Given the description of an element on the screen output the (x, y) to click on. 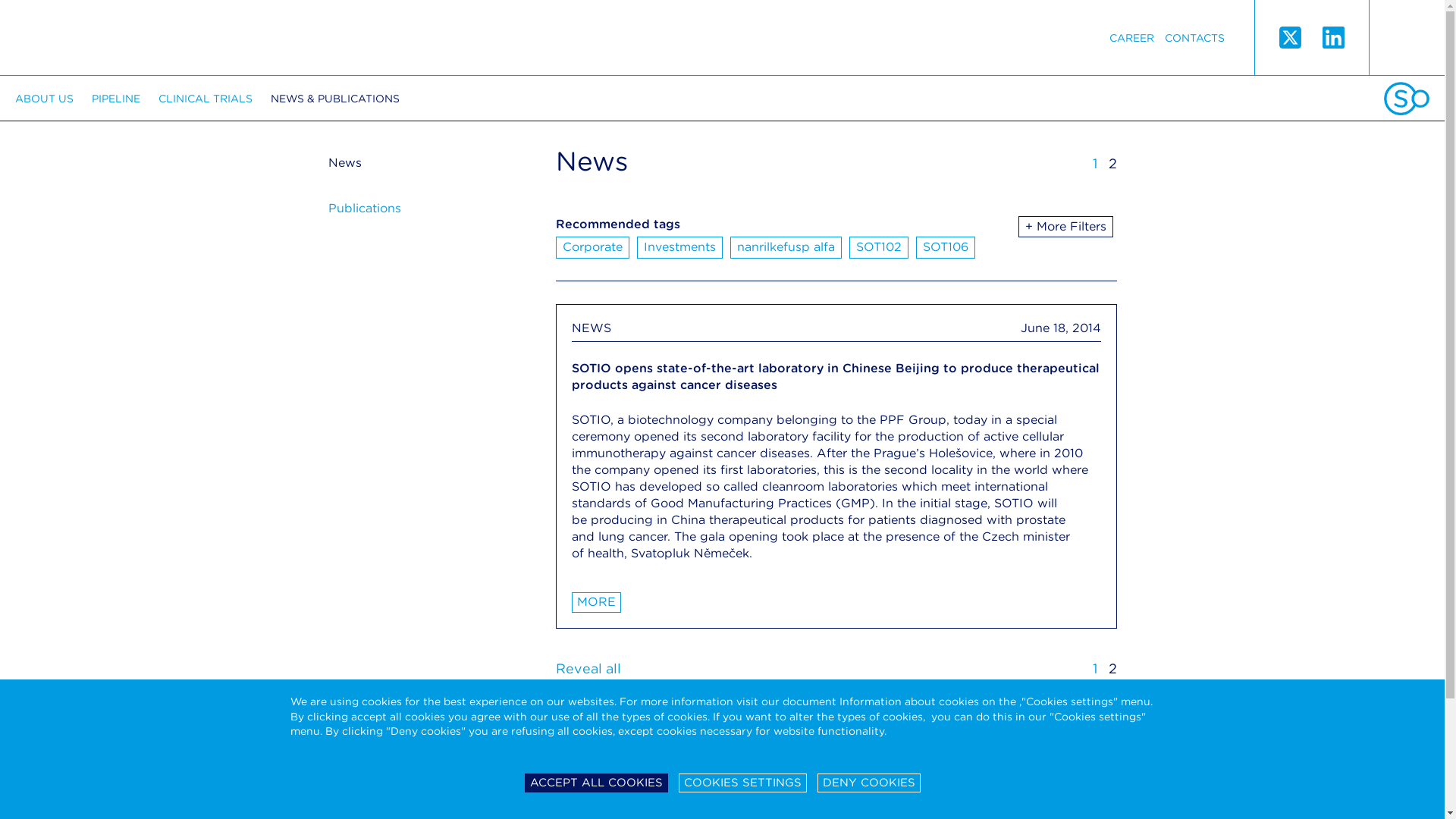
Sotio (146, 38)
PIPELINE (115, 98)
CLINICAL TRIALS (204, 98)
ABOUT US (44, 98)
